Given the description of an element on the screen output the (x, y) to click on. 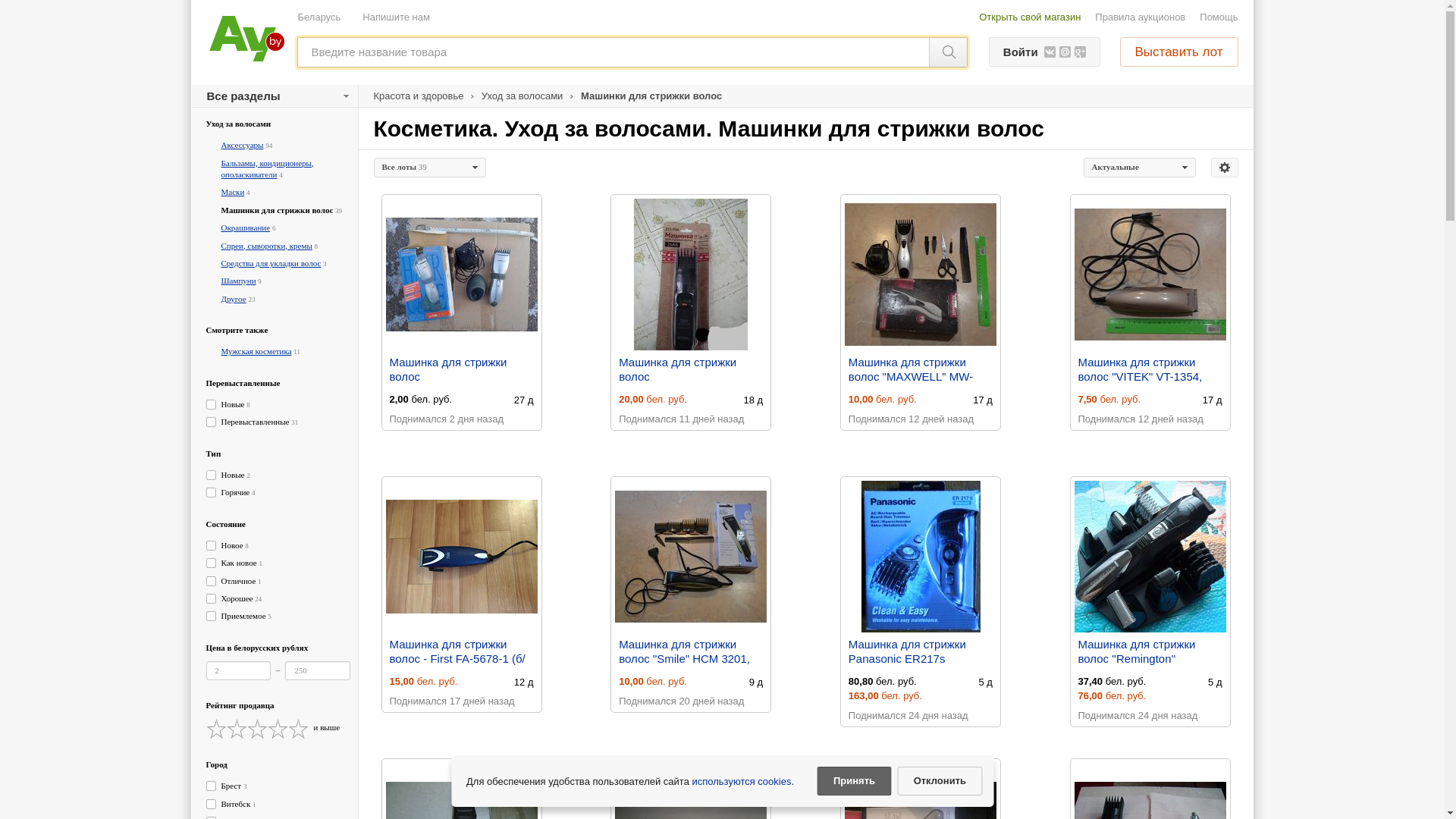
pp Element type: text (721, 291)
login Element type: text (721, 172)
